Given the description of an element on the screen output the (x, y) to click on. 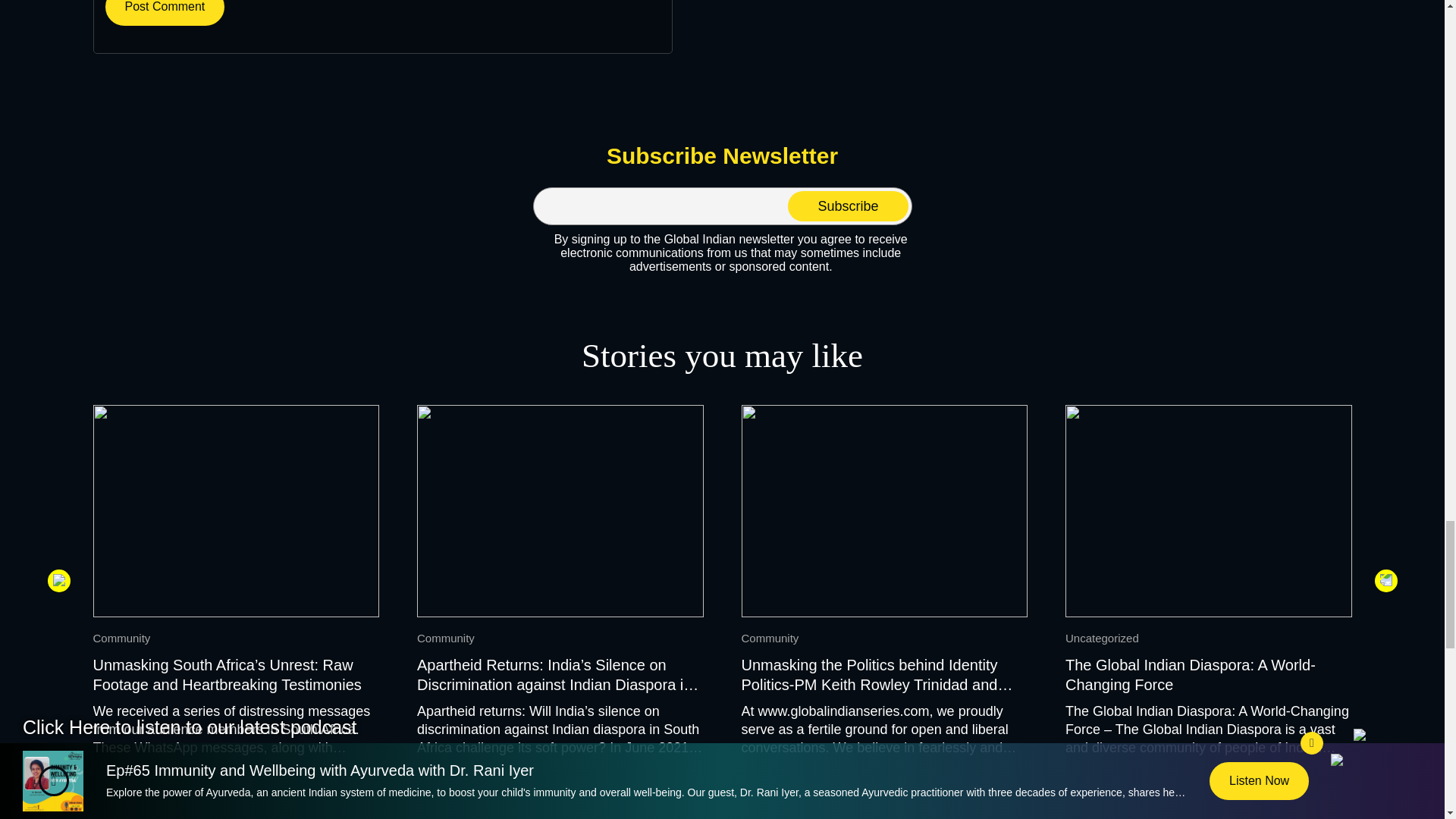
Post Comment (164, 12)
Subscribe (847, 205)
Post Comment (164, 12)
